Given the description of an element on the screen output the (x, y) to click on. 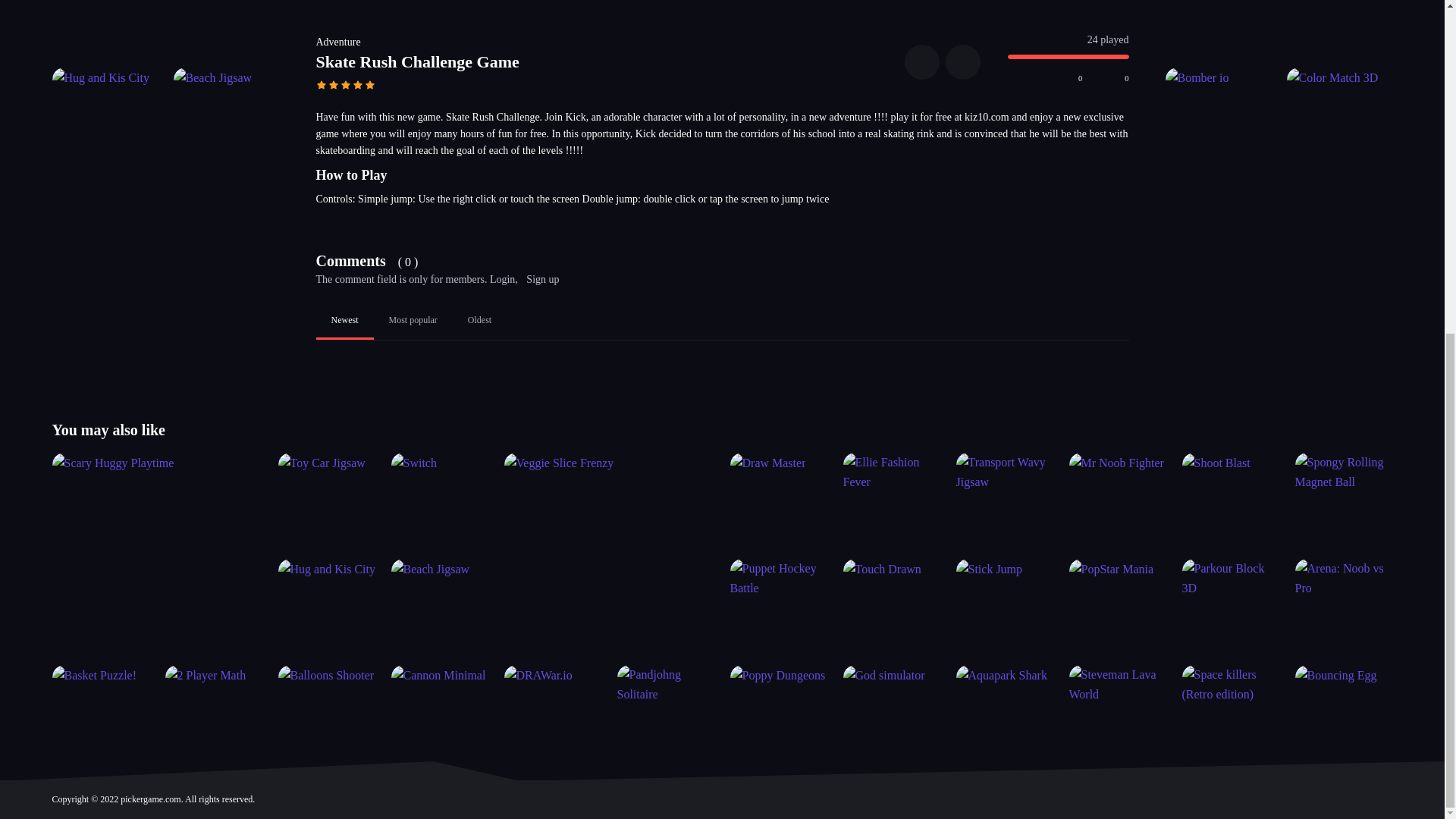
Adventure (337, 41)
Login (502, 279)
Sign up (542, 279)
